Given the description of an element on the screen output the (x, y) to click on. 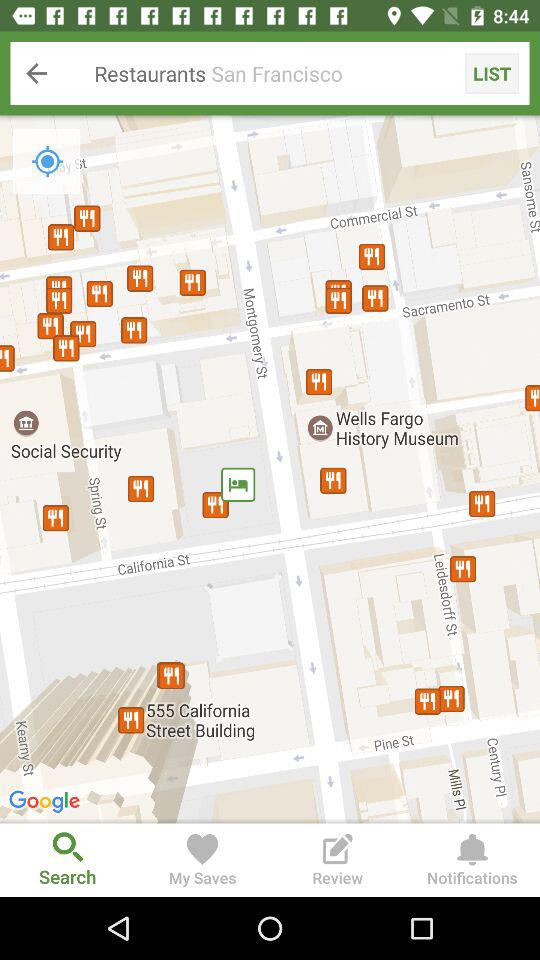
choose icon below restaurants san francisco item (47, 161)
